Given the description of an element on the screen output the (x, y) to click on. 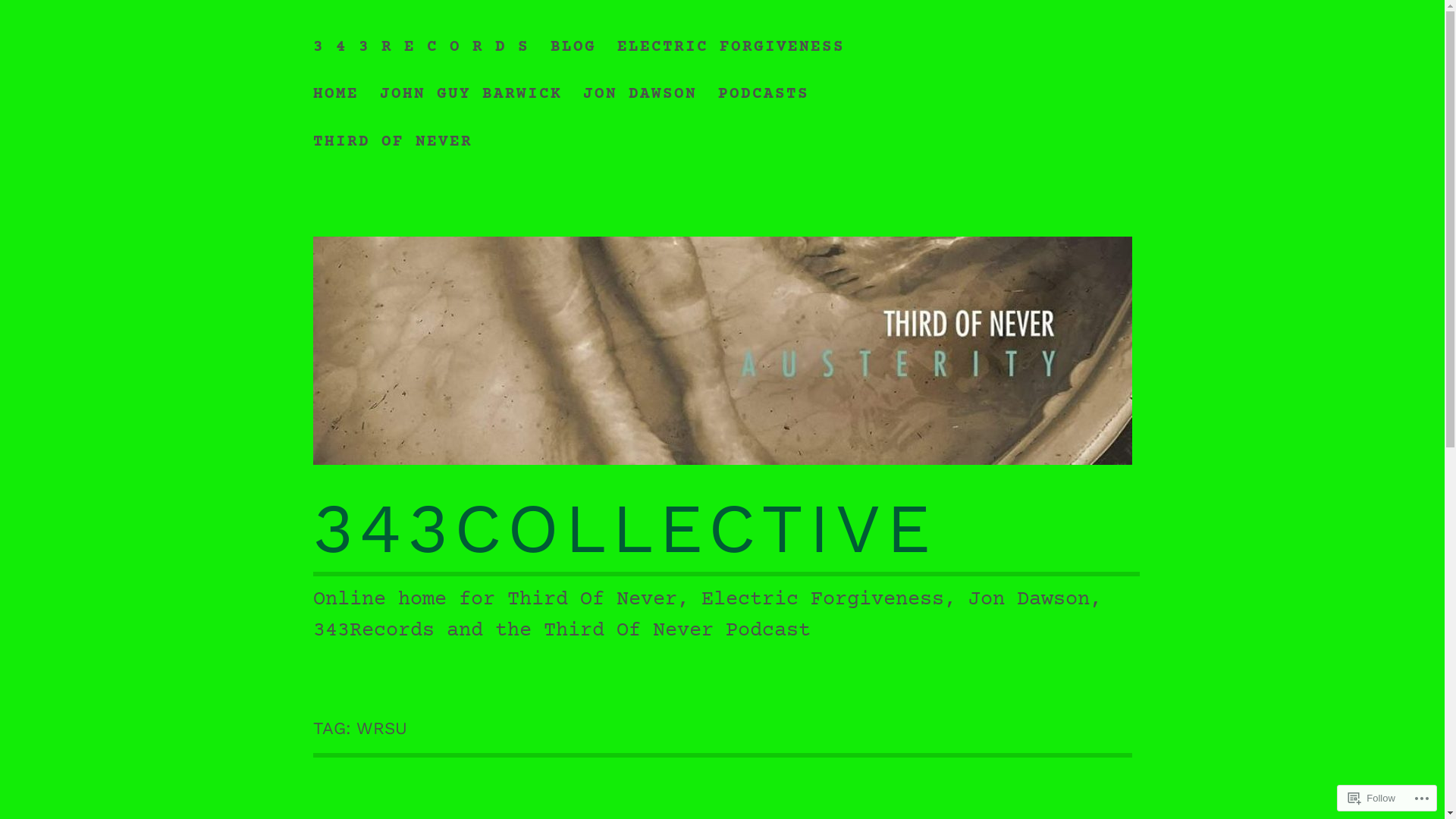
343COLLECTIVE Element type: text (623, 527)
JOHN GUY BARWICK Element type: text (470, 88)
JON DAWSON Element type: text (639, 88)
THIRD OF NEVER Element type: text (391, 135)
Follow Element type: text (1371, 797)
3 4 3 R E C O R D S Element type: text (420, 41)
ELECTRIC FORGIVENESS Element type: text (730, 41)
BLOG Element type: text (573, 41)
HOME Element type: text (334, 88)
PODCASTS Element type: text (763, 88)
